Given the description of an element on the screen output the (x, y) to click on. 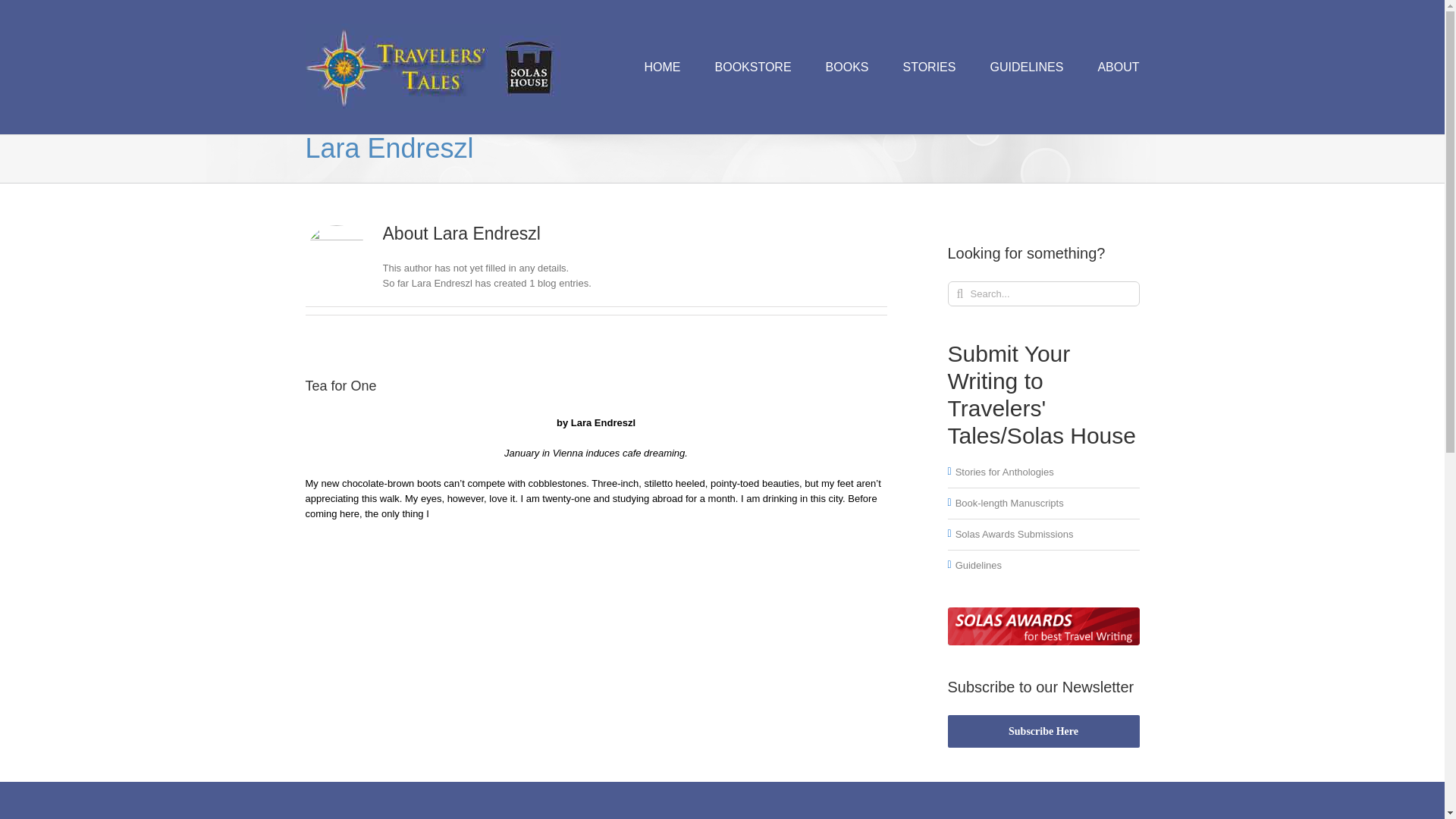
HOME (663, 67)
GUIDELINES (1026, 67)
BOOKS (847, 67)
ABOUT (1117, 67)
BOOKSTORE (753, 67)
STORIES (928, 67)
